Given the description of an element on the screen output the (x, y) to click on. 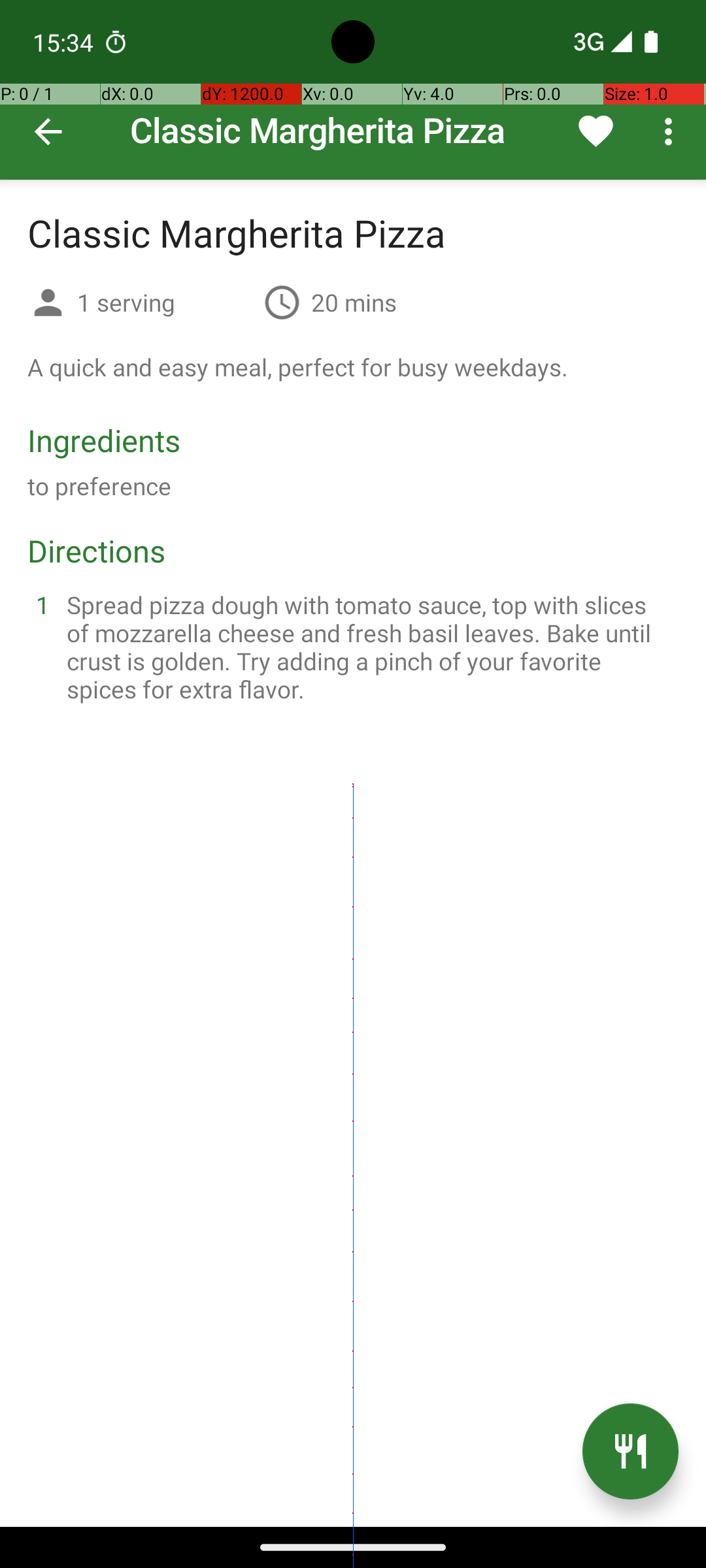
Spread pizza dough with tomato sauce, top with slices of mozzarella cheese and fresh basil leaves. Bake until crust is golden. Try adding a pinch of your favorite spices for extra flavor. Element type: android.widget.TextView (368, 646)
